Given the description of an element on the screen output the (x, y) to click on. 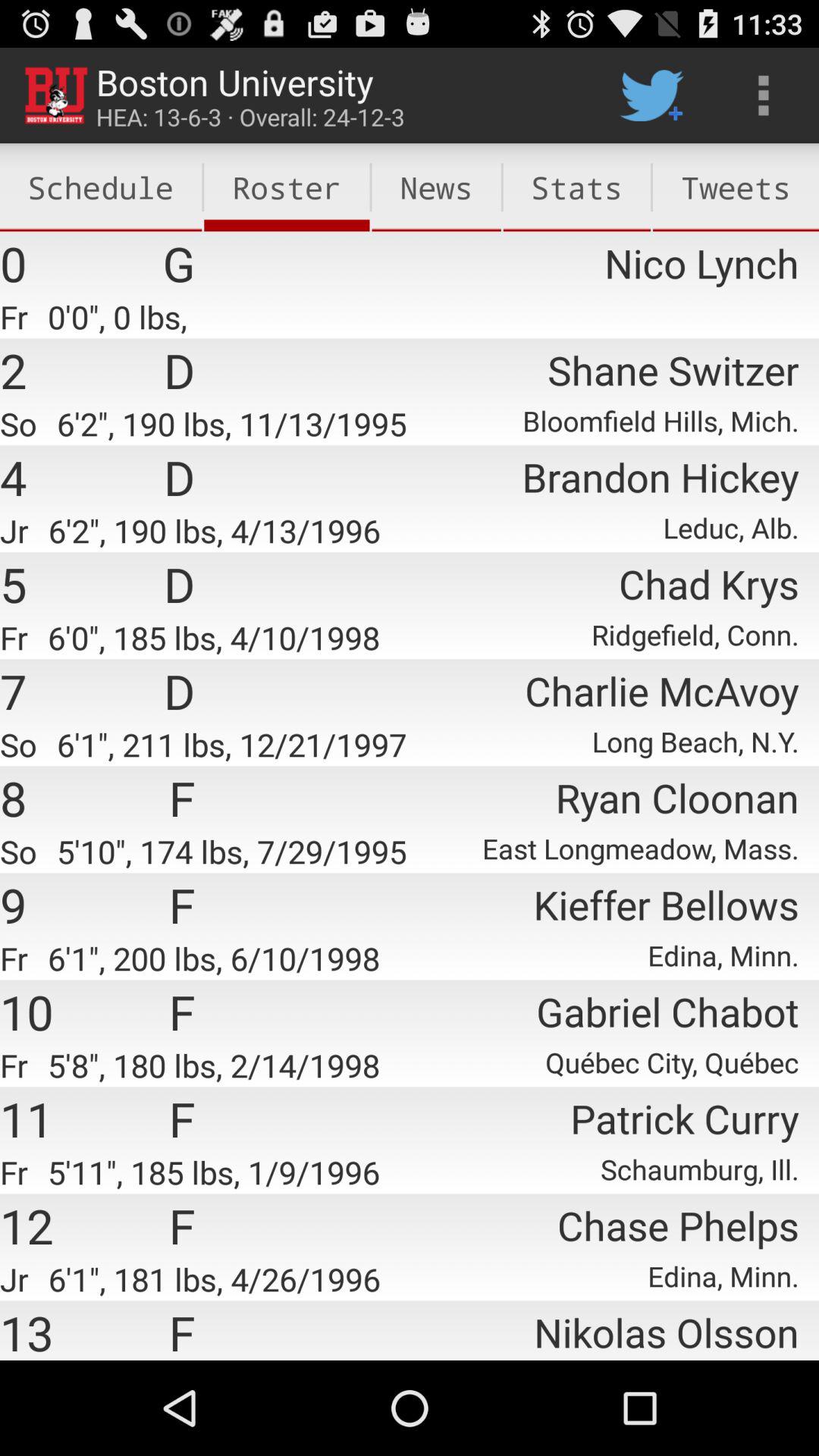
open the app below hea 13 6 icon (286, 187)
